Given the description of an element on the screen output the (x, y) to click on. 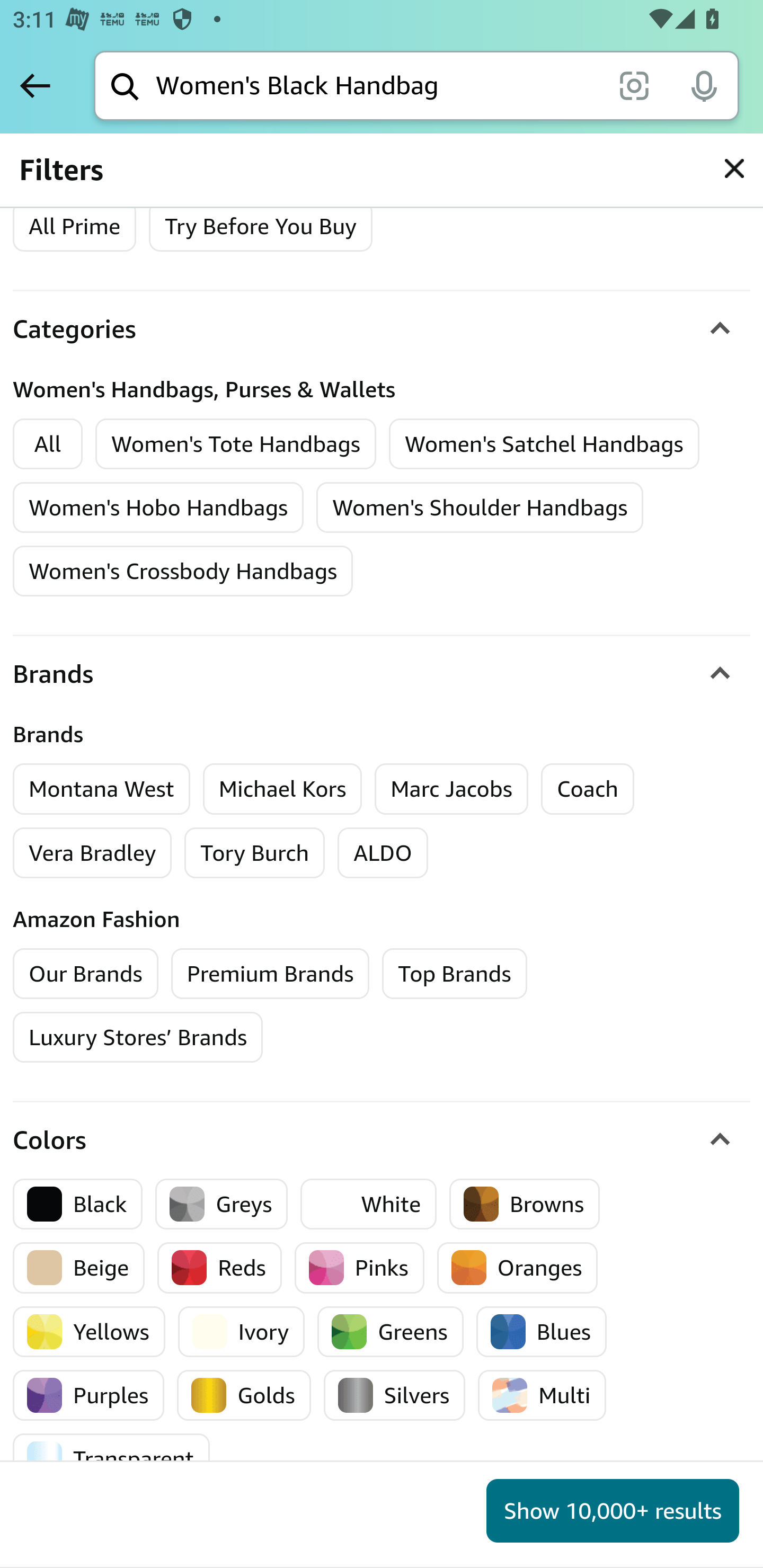
Back (35, 85)
scan it (633, 85)
All Prime (74, 226)
Try Before You Buy (260, 226)
Categories (381, 329)
All (47, 444)
Women's Tote Handbags (235, 444)
Women's Satchel Handbags (543, 444)
Women's Hobo Handbags (158, 507)
Women's Shoulder Handbags (479, 507)
Women's Crossbody Handbags (183, 571)
Brands (381, 674)
Montana West (101, 788)
Michael Kors (282, 788)
Marc Jacobs (451, 788)
Coach (587, 788)
Vera Bradley (92, 852)
Tory Burch (254, 852)
ALDO (382, 852)
Our Brands (85, 973)
Premium Brands (270, 973)
Top Brands (454, 973)
Luxury Stores’ Brands (137, 1037)
Colors (381, 1139)
Black Black Black Black (77, 1203)
Greys Greys Greys Greys (221, 1203)
White White White White (368, 1203)
Browns Browns Browns Browns (524, 1203)
Beige Beige Beige Beige (79, 1267)
Reds Reds Reds Reds (220, 1267)
Pinks Pinks Pinks Pinks (358, 1267)
Oranges Oranges Oranges Oranges (516, 1267)
Yellows Yellows Yellows Yellows (88, 1330)
Ivory Ivory Ivory Ivory (240, 1330)
Greens Greens Greens Greens (389, 1330)
Blues Blues Blues Blues (541, 1330)
More Like This (427, 1383)
Purples Purples Purples Purples (88, 1394)
Golds Golds Golds Golds (243, 1394)
Silvers Silvers Silvers Silvers (393, 1394)
Multi Multi Multi Multi (541, 1394)
Transparent Transparent Transparent Transparent (110, 1458)
Show 10,000+ results (612, 1510)
